Given the description of an element on the screen output the (x, y) to click on. 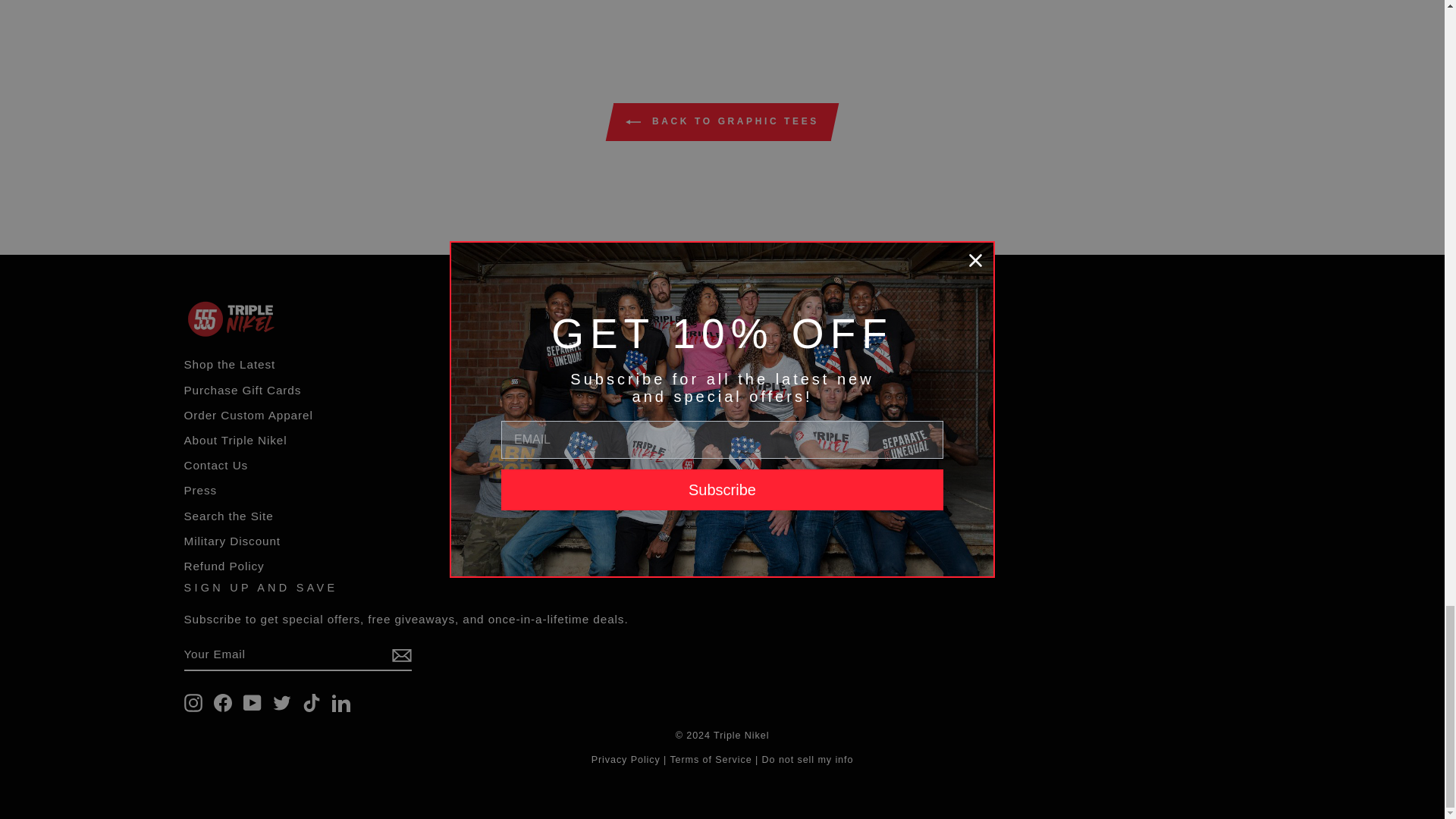
Triple Nikel on TikTok (310, 702)
Triple Nikel on Twitter (282, 702)
Triple Nikel on Facebook (222, 702)
Triple Nikel on YouTube (251, 702)
Triple Nikel on Instagram (192, 702)
